Given the description of an element on the screen output the (x, y) to click on. 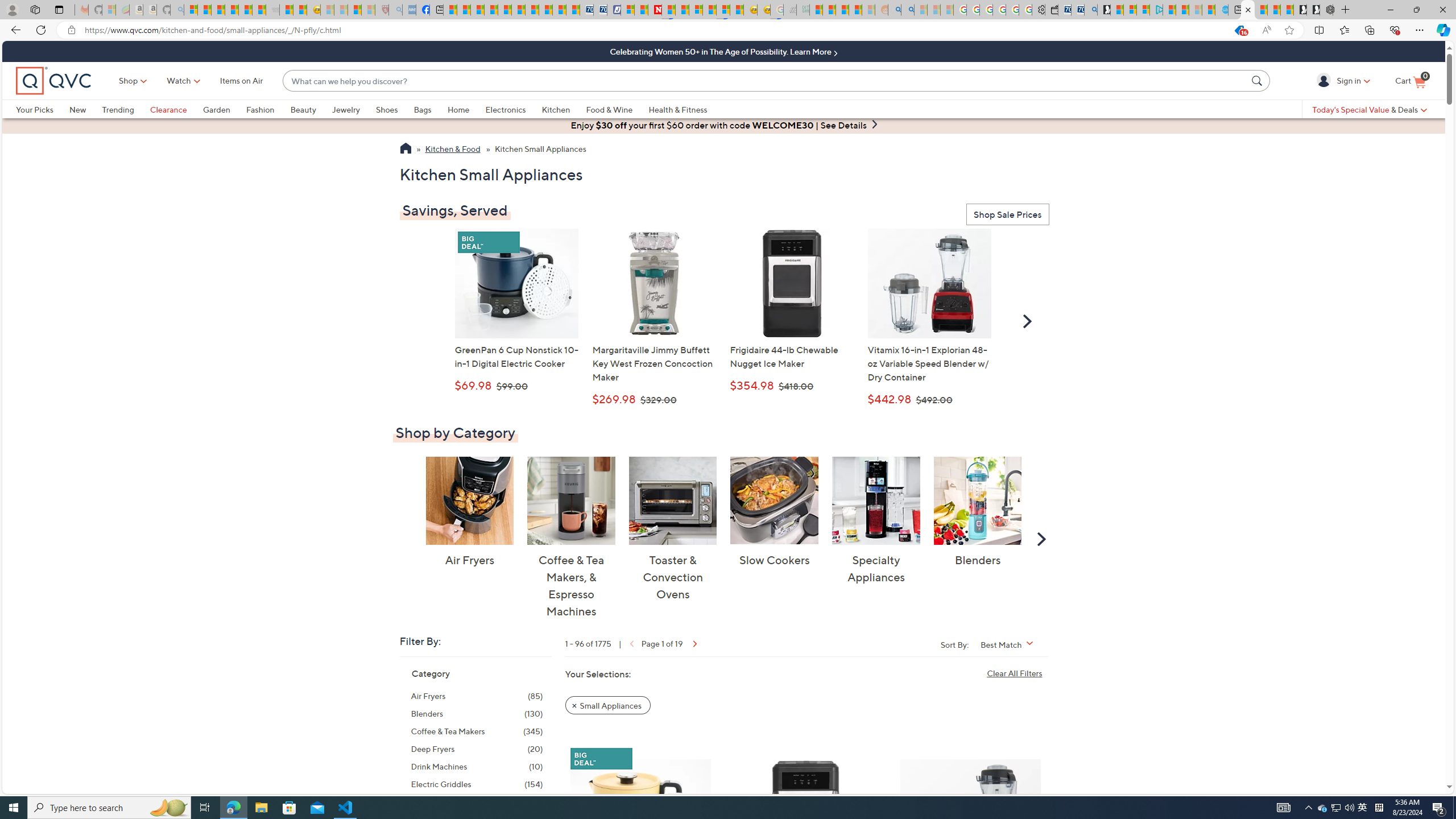
Kitchen Small Appliances (539, 149)
New (76, 109)
Items on Air (241, 80)
Bing Real Estate - Home sales and rental listings (1090, 9)
Student Loan Update: Forgiveness Program Ends This Month (855, 9)
